Given the description of an element on the screen output the (x, y) to click on. 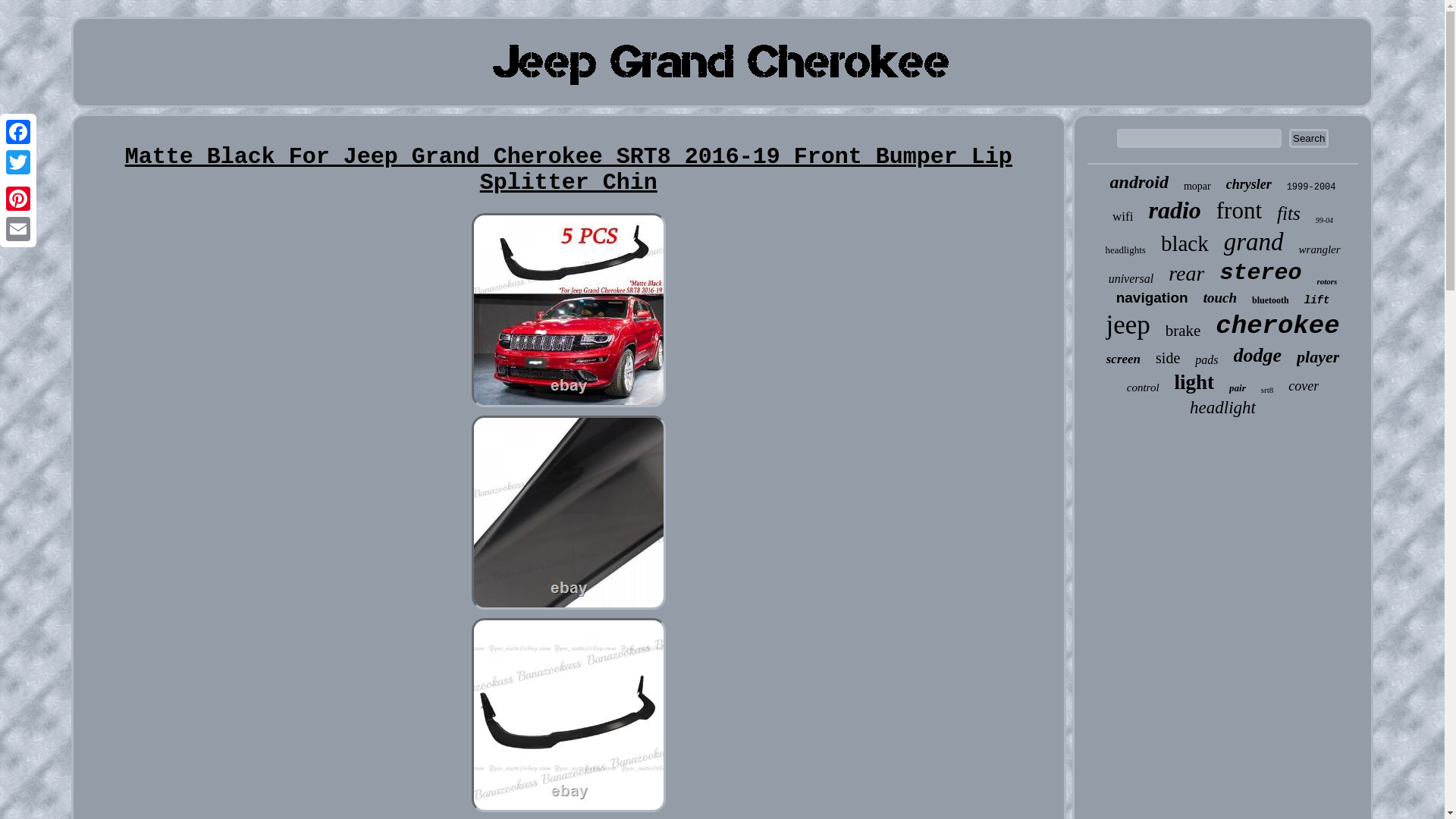
Search (1307, 138)
mopar (1197, 186)
Search (1307, 138)
Facebook (17, 132)
android (1139, 181)
stereo (1260, 272)
1999-2004 (1311, 186)
rear (1186, 273)
grand (1254, 242)
99-04 (1324, 220)
black (1184, 243)
